Given the description of an element on the screen output the (x, y) to click on. 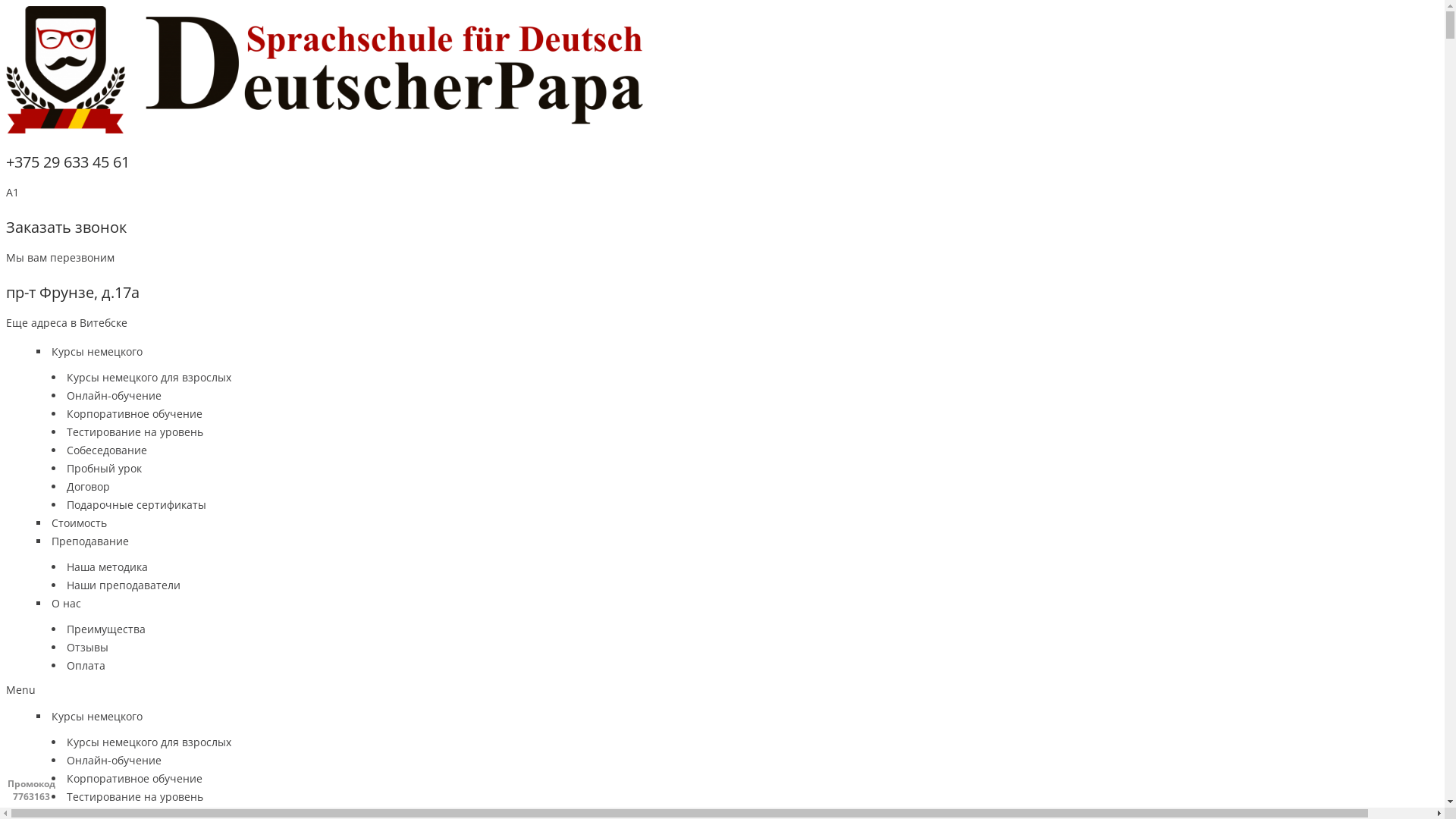
+375 29 633 45 61 Element type: text (67, 161)
